Given the description of an element on the screen output the (x, y) to click on. 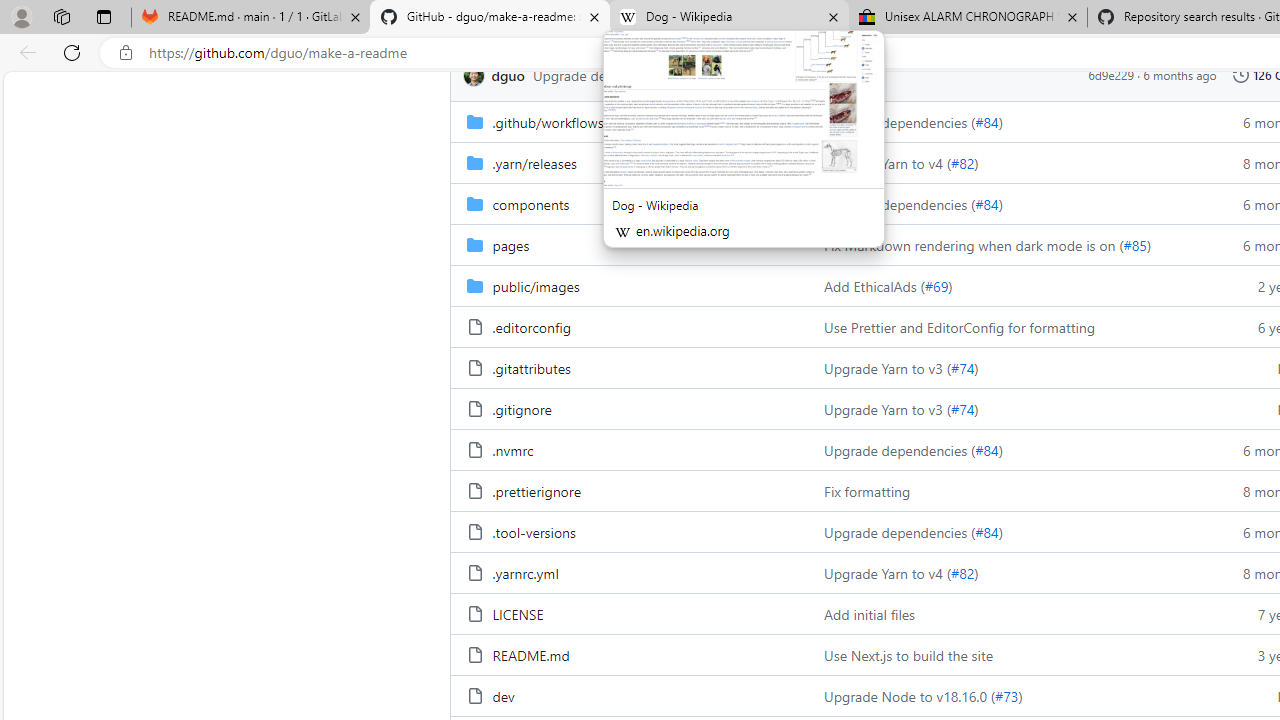
Upgrade Yarn to v4 (#82) (1008, 572)
.github/workflows, (Directory) (629, 120)
#85 (1134, 244)
Close tab (1072, 16)
.editorconfig, (File) (530, 326)
Use Prettier and EditorConfig for formatting (1008, 326)
pages, (Directory) (629, 243)
components, (Directory) (530, 203)
Fix formatting (867, 490)
Upgrade Node to v18.16.0 (#73) (1008, 695)
Refresh (72, 52)
Open commit details (733, 75)
#69 (936, 285)
public/images, (Directory) (629, 285)
